Given the description of an element on the screen output the (x, y) to click on. 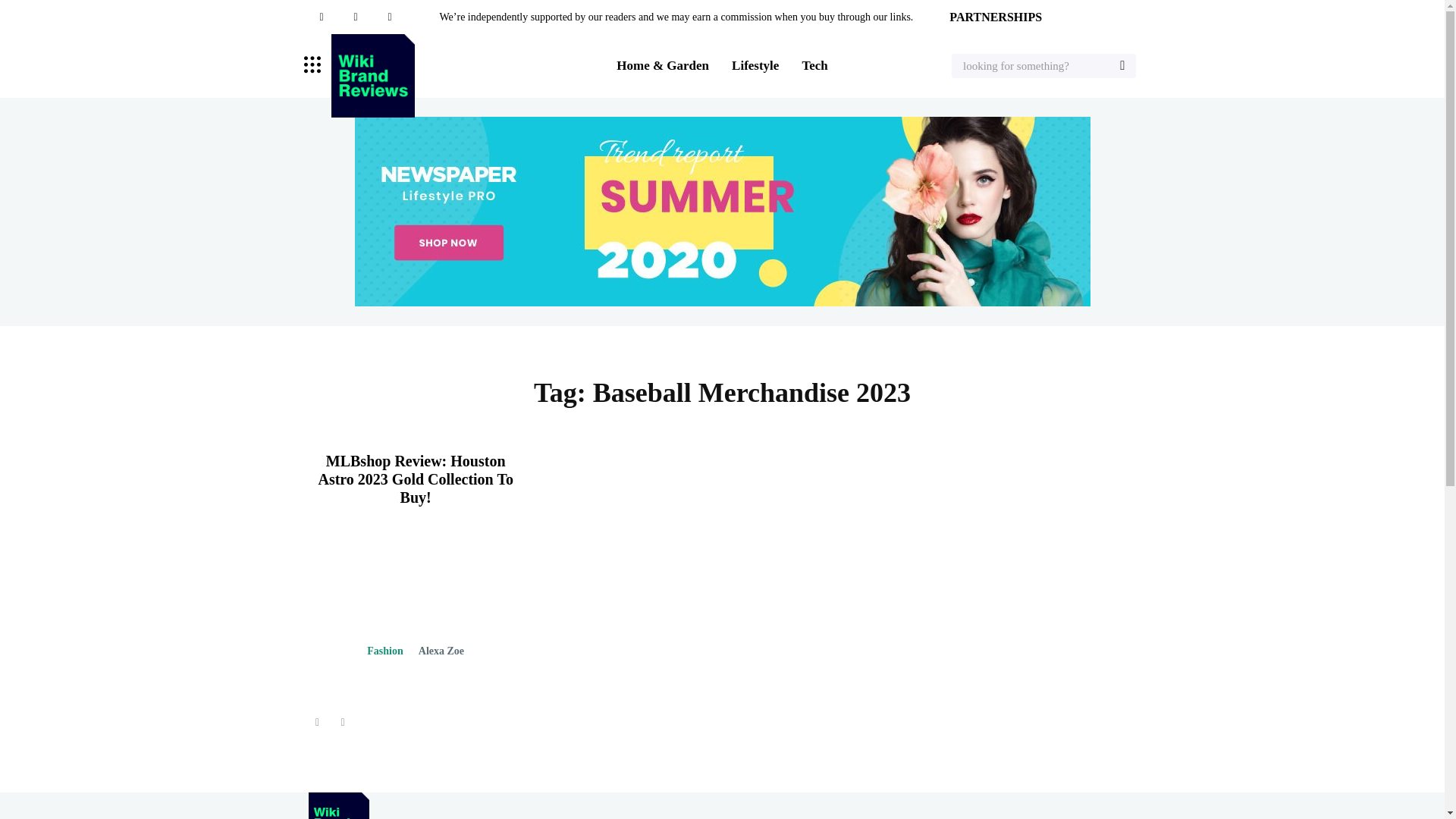
Tech (813, 65)
MLBshop Review: Houston Astro 2023 Gold Collection To Buy! (414, 479)
Lifestyle (754, 65)
MLBshop Review: Houston Astro 2023 Gold Collection To Buy! (435, 607)
Twitter (389, 17)
Instagram (355, 17)
Facebook (320, 17)
